Given the description of an element on the screen output the (x, y) to click on. 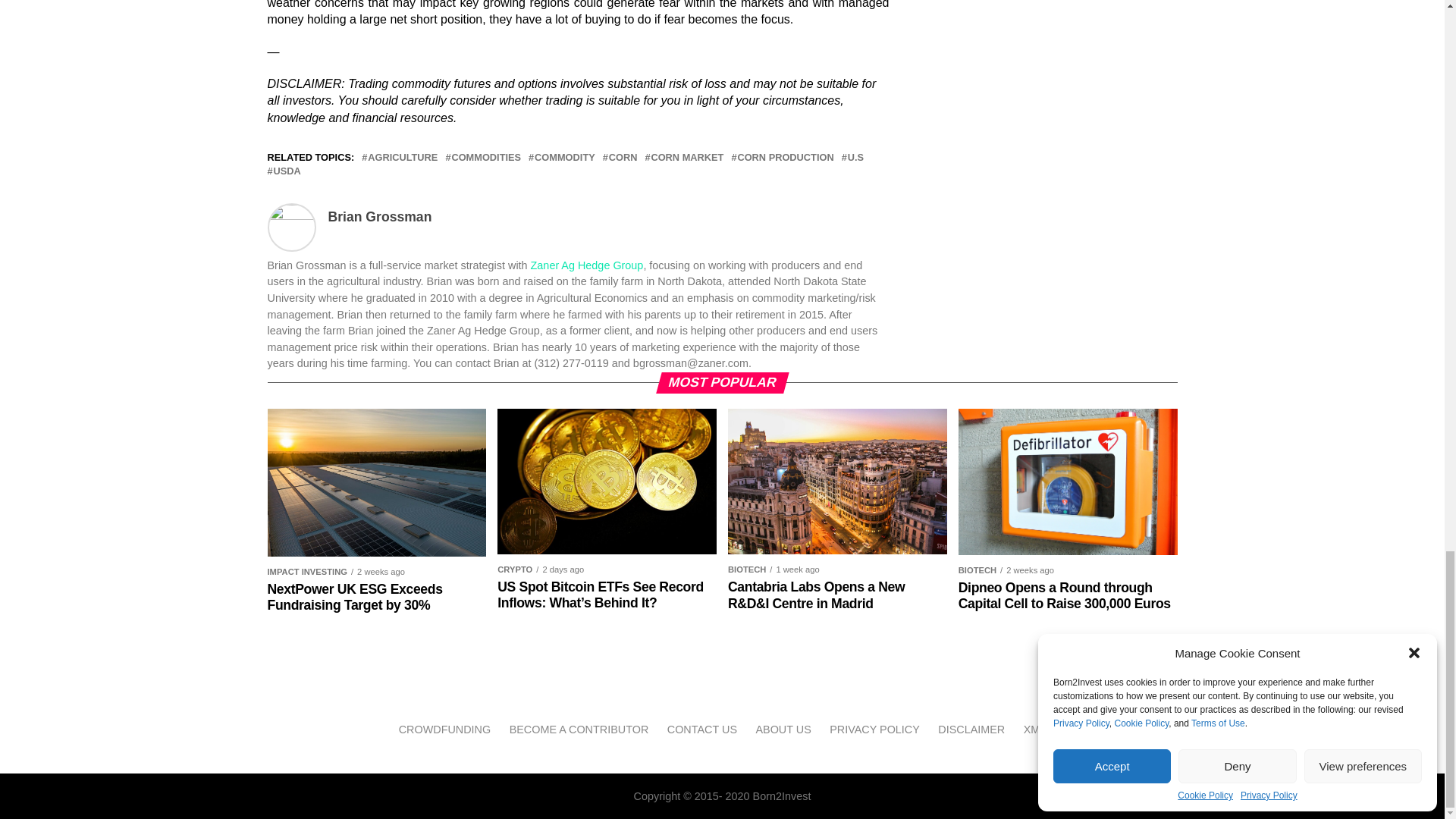
Posts by Brian Grossman (378, 216)
